Given the description of an element on the screen output the (x, y) to click on. 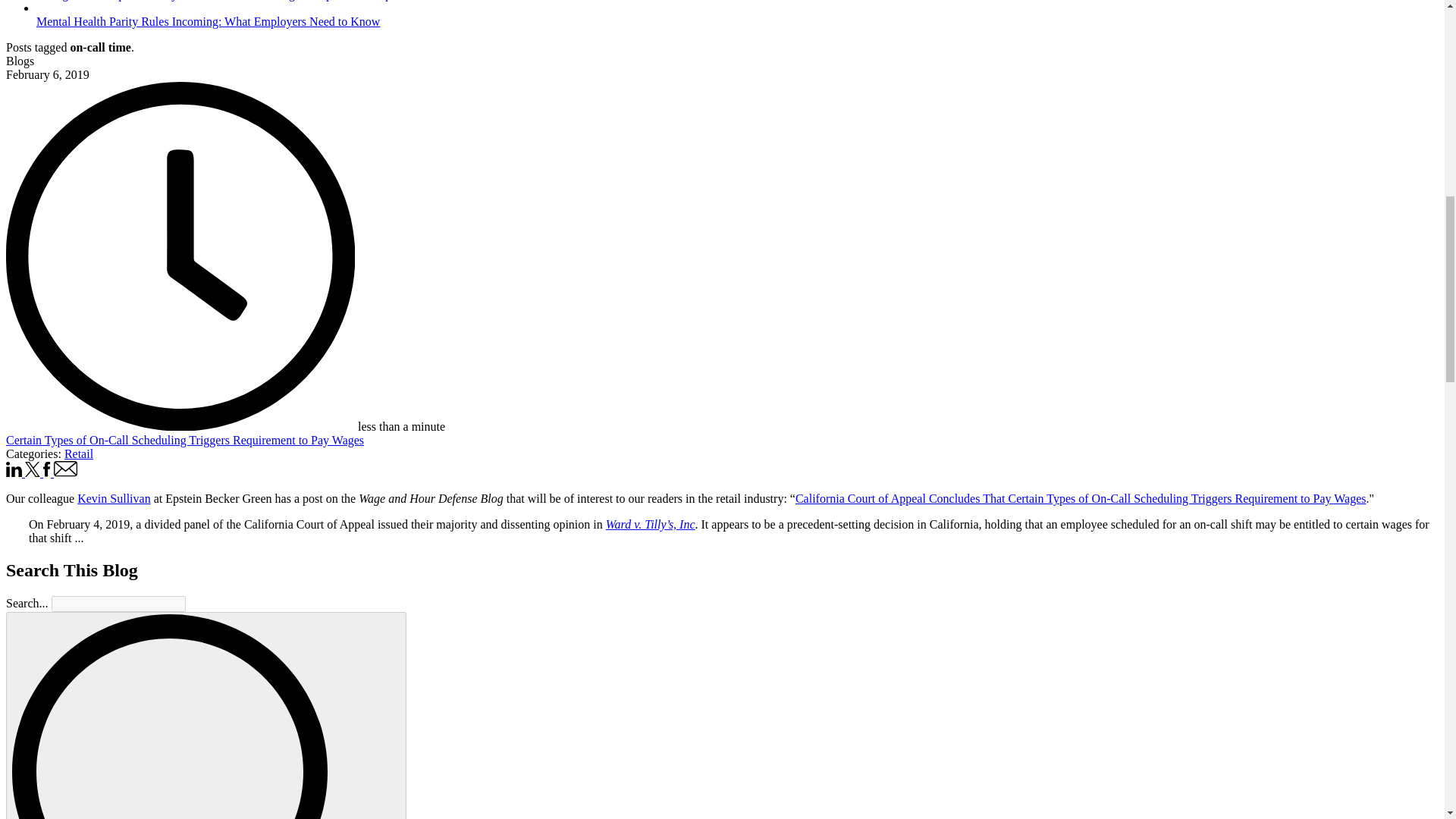
Search (205, 715)
Linkedin (14, 472)
Linkedin (13, 468)
Retail (78, 453)
Email (65, 472)
Twitter (33, 472)
Clock (180, 255)
Twitter (32, 468)
